Given the description of an element on the screen output the (x, y) to click on. 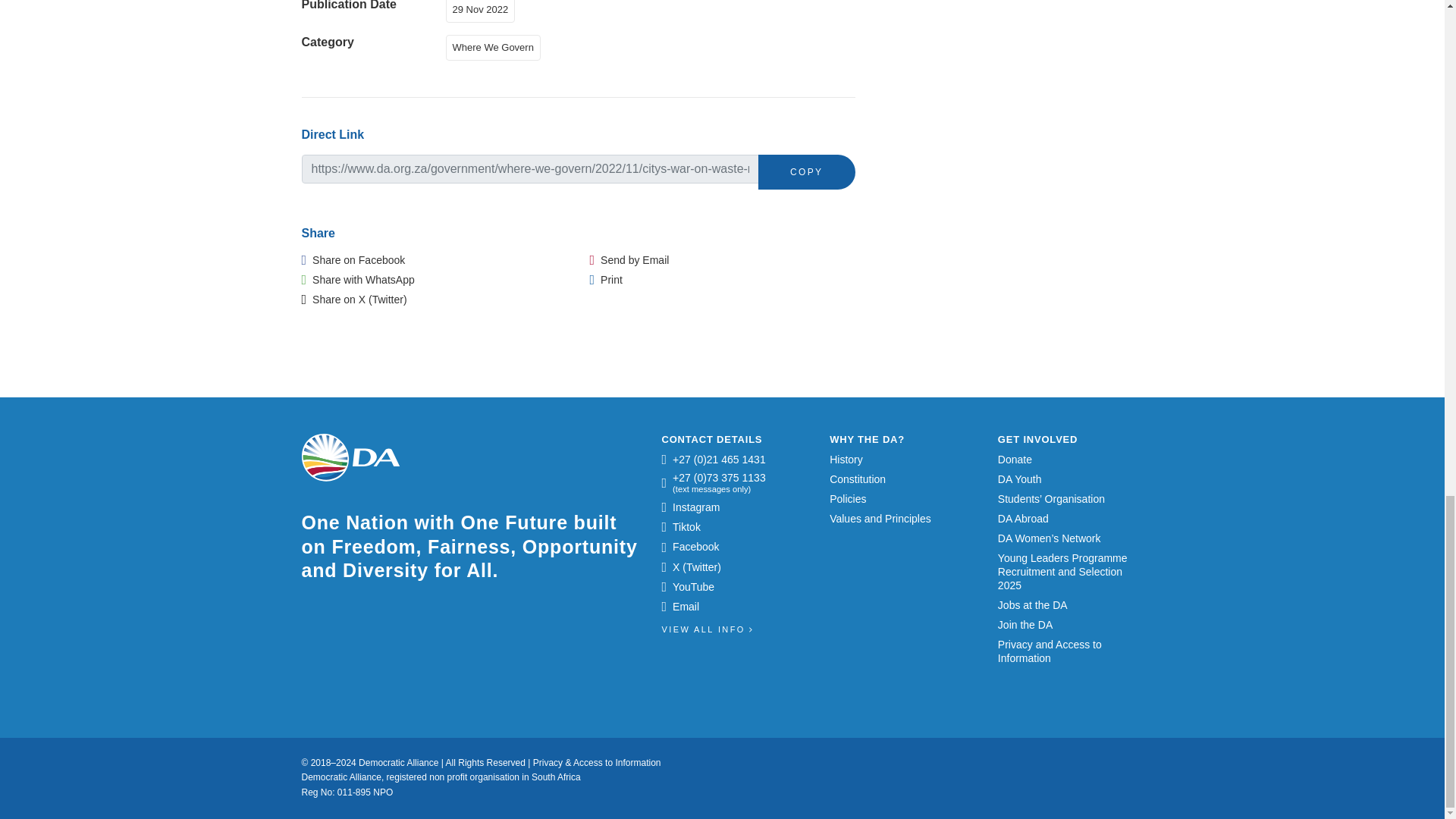
Send by Email (629, 259)
Democratic Alliance Logo (350, 457)
Share with WhatsApp (357, 279)
Share on Facebook (353, 259)
COPY (807, 171)
Where We Govern (496, 45)
